Given the description of an element on the screen output the (x, y) to click on. 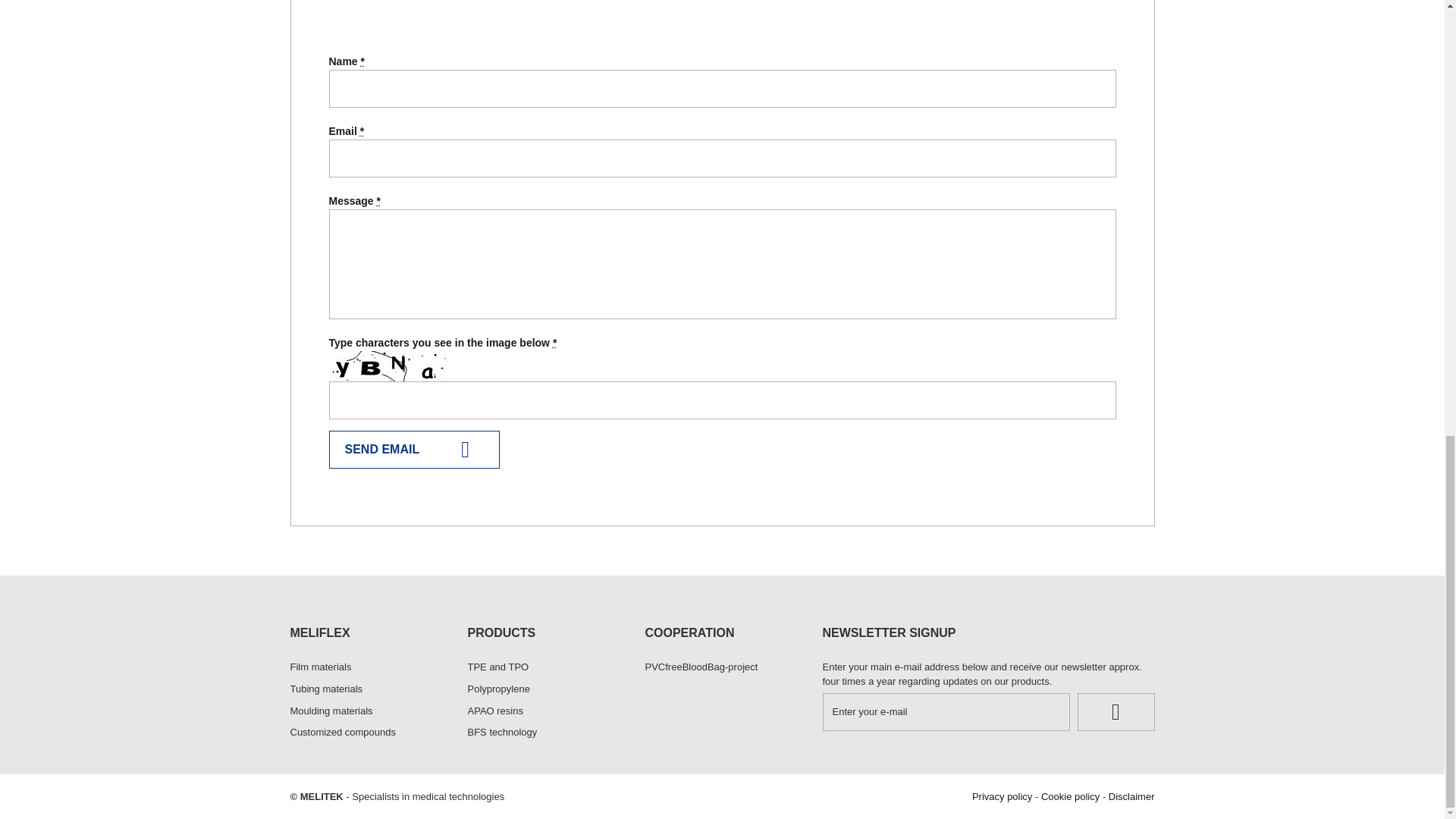
Cookie policy (1070, 796)
Film materials (366, 667)
Read more about the APAO products from REXtac (544, 711)
TPE and TPO (544, 667)
Learn more about our tubing grades (366, 689)
Read more about the Blow-Feal-Seal technology (544, 732)
Learn more about our moulding grades (366, 711)
Moulding materials (366, 711)
SEND EMAIL (414, 449)
